Given the description of an element on the screen output the (x, y) to click on. 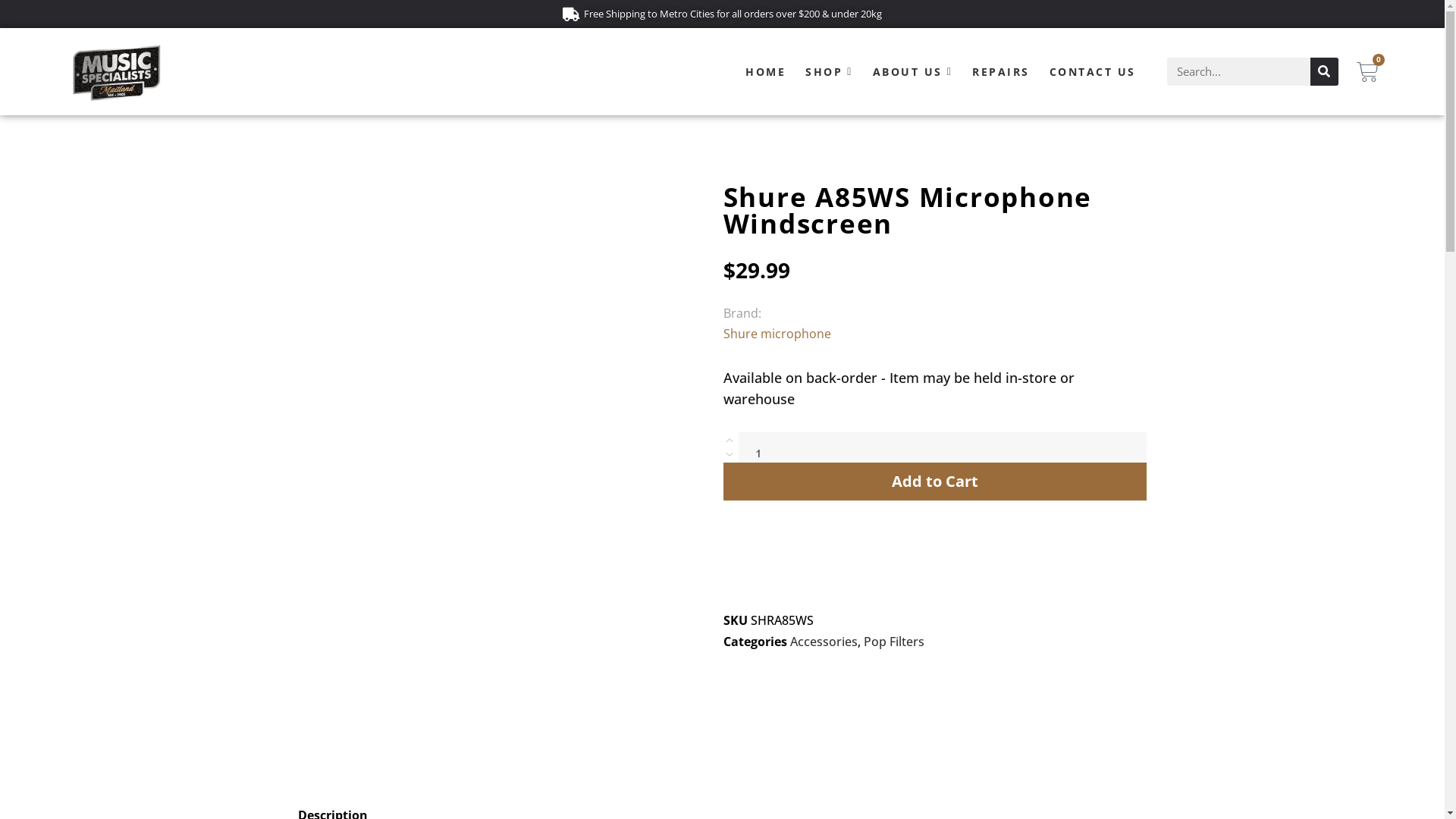
SHOP Element type: text (829, 71)
ABOUT US Element type: text (912, 71)
HOME Element type: text (765, 71)
CONTACT US Element type: text (1092, 71)
Shure microphone Element type: text (777, 333)
0 Element type: text (1367, 70)
Add to Cart Element type: text (935, 481)
Pop Filters Element type: text (893, 641)
REPAIRS Element type: text (1000, 71)
Qty Element type: hover (942, 452)
Accessories Element type: text (823, 641)
